Given the description of an element on the screen output the (x, y) to click on. 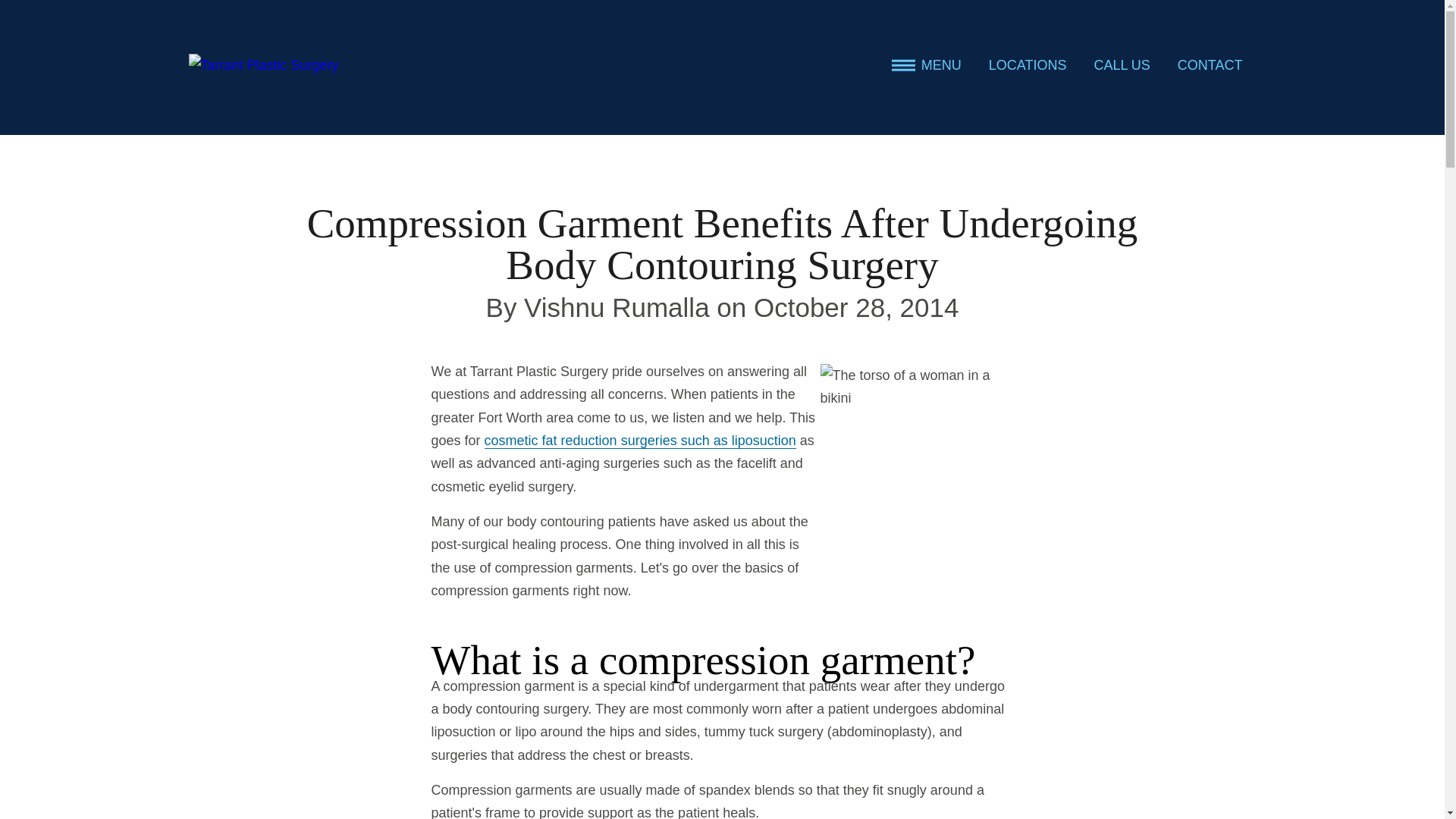
CALL US (1121, 65)
cosmetic fat reduction surgeries such as liposuction (640, 440)
CONTACT (1209, 65)
